Given the description of an element on the screen output the (x, y) to click on. 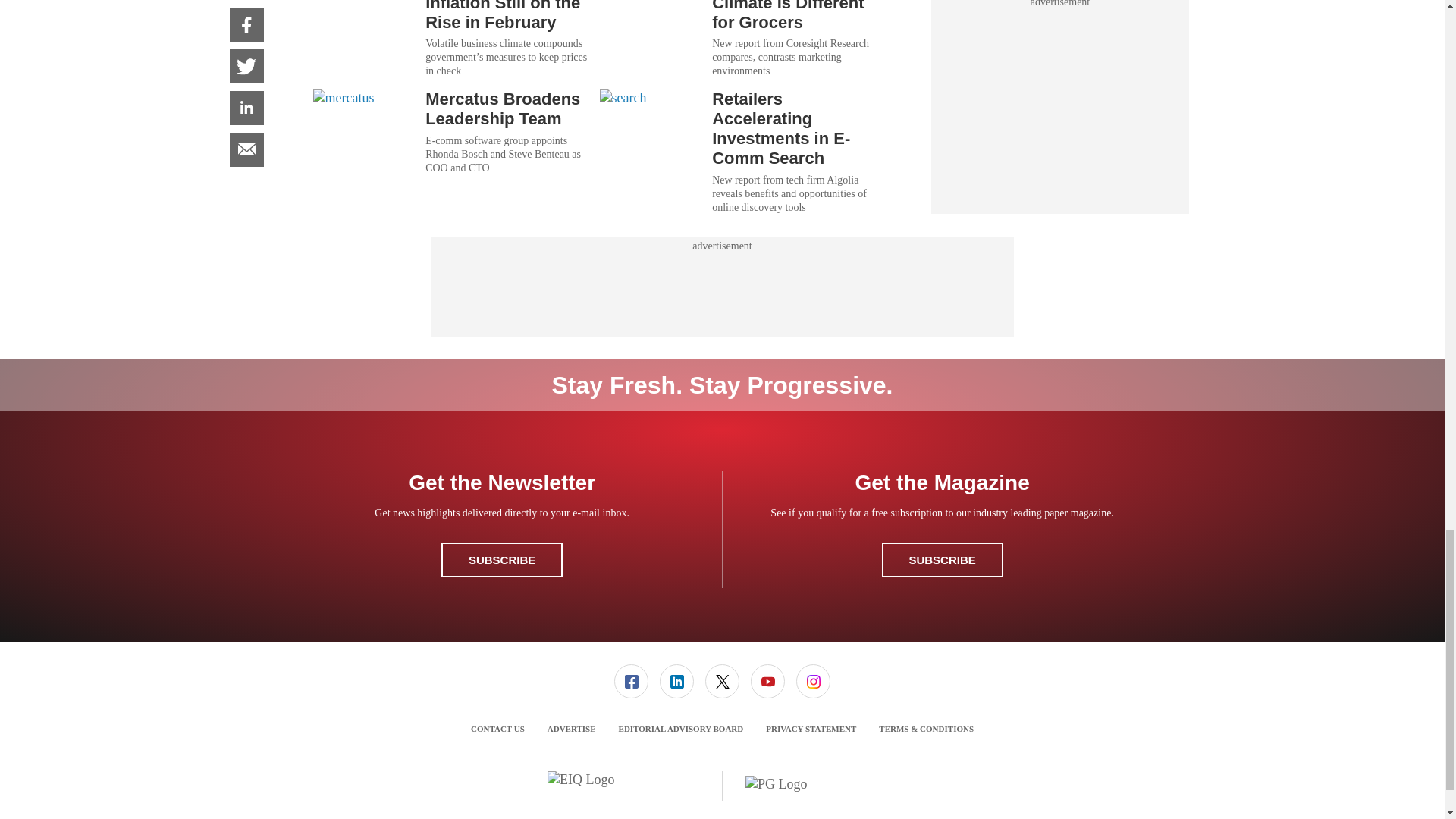
3rd party ad content (721, 287)
